Given the description of an element on the screen output the (x, y) to click on. 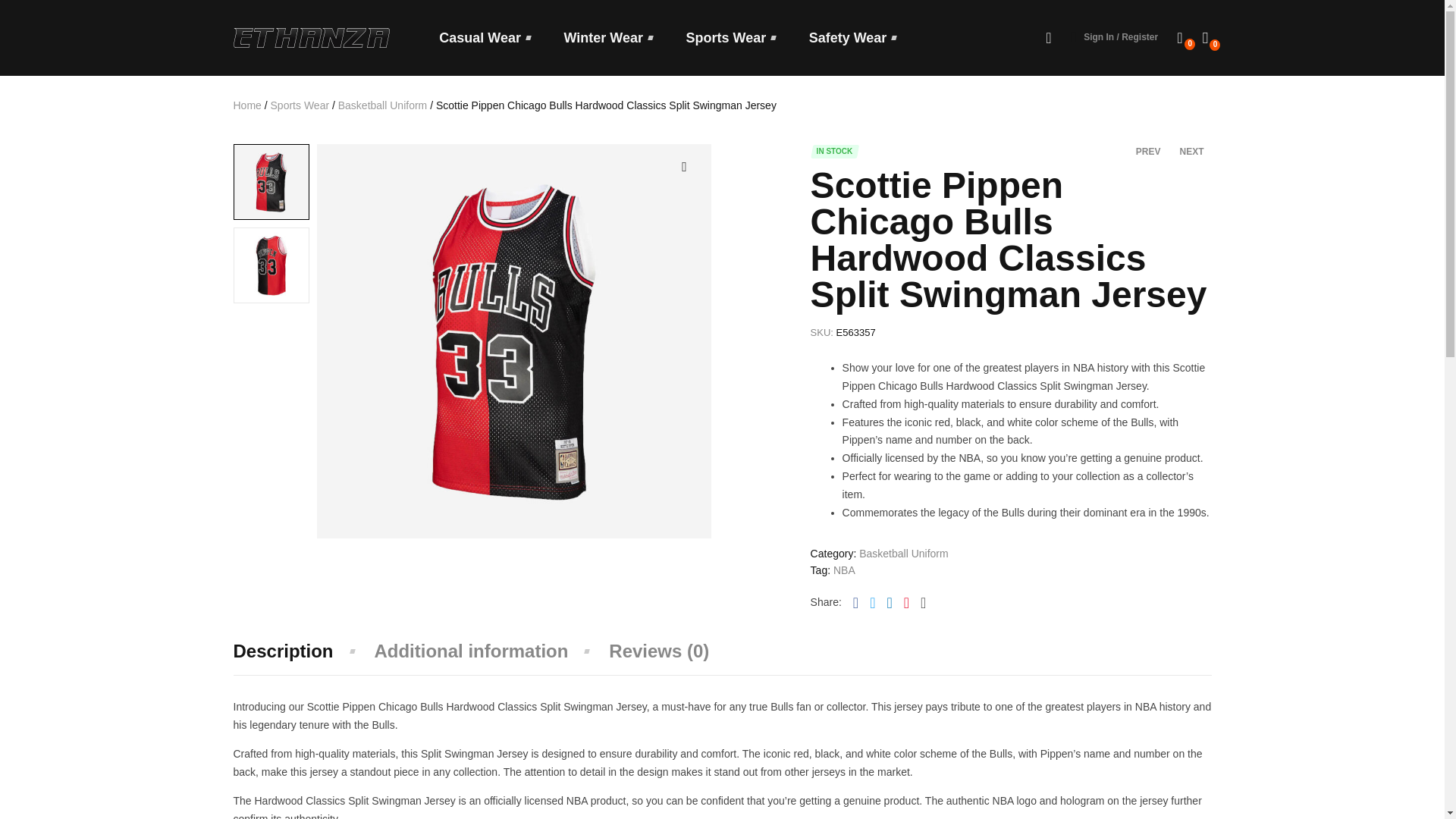
Winter Wear (608, 36)
Sports Wear (730, 36)
Safety Wear (852, 36)
Casual Wear (483, 36)
